Given the description of an element on the screen output the (x, y) to click on. 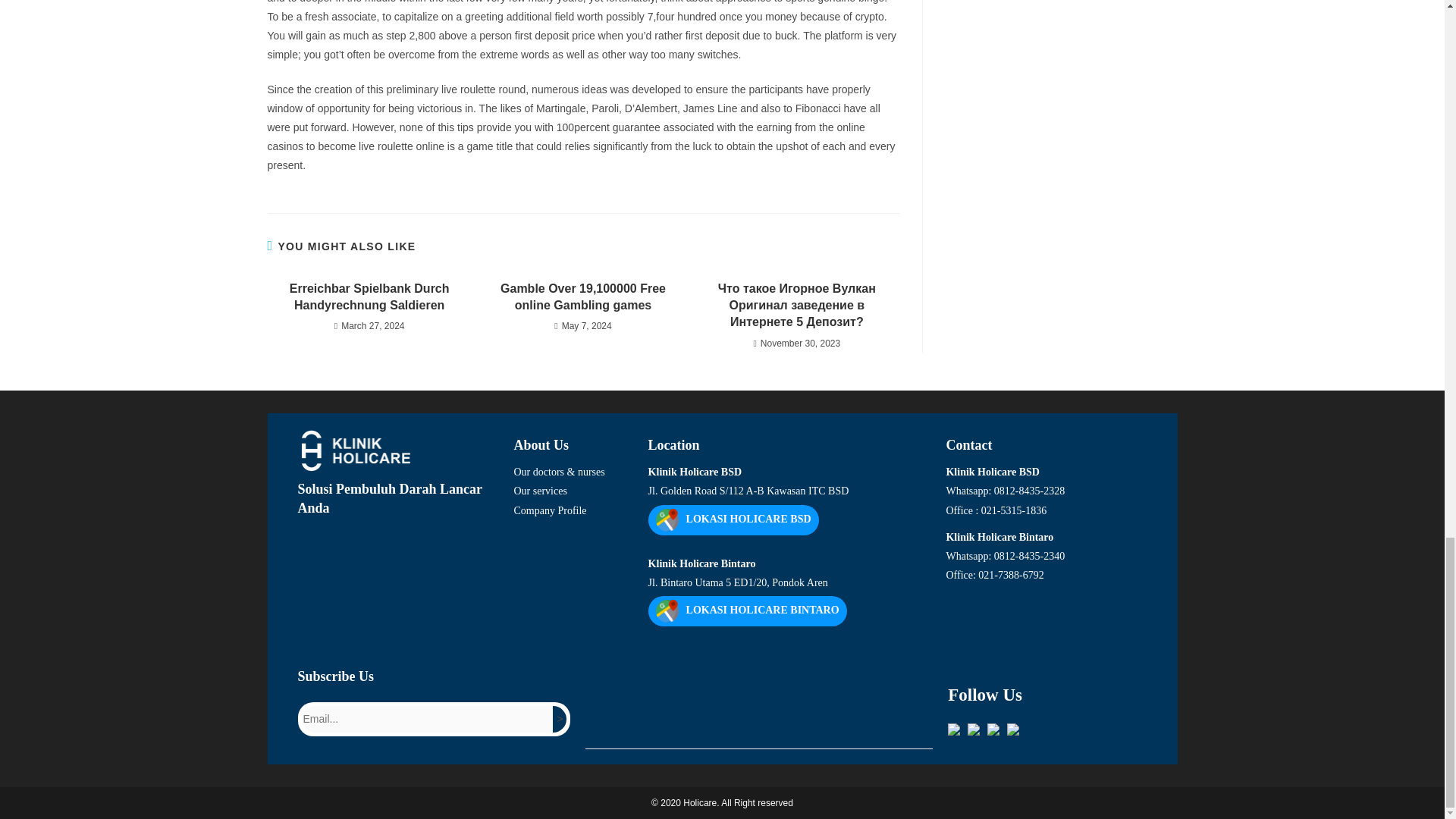
Erreichbar Spielbank Durch Handyrechnung Saldieren (368, 297)
About Us (573, 441)
Gamble Over 19,100000 Free online Gambling games (582, 297)
